Given the description of an element on the screen output the (x, y) to click on. 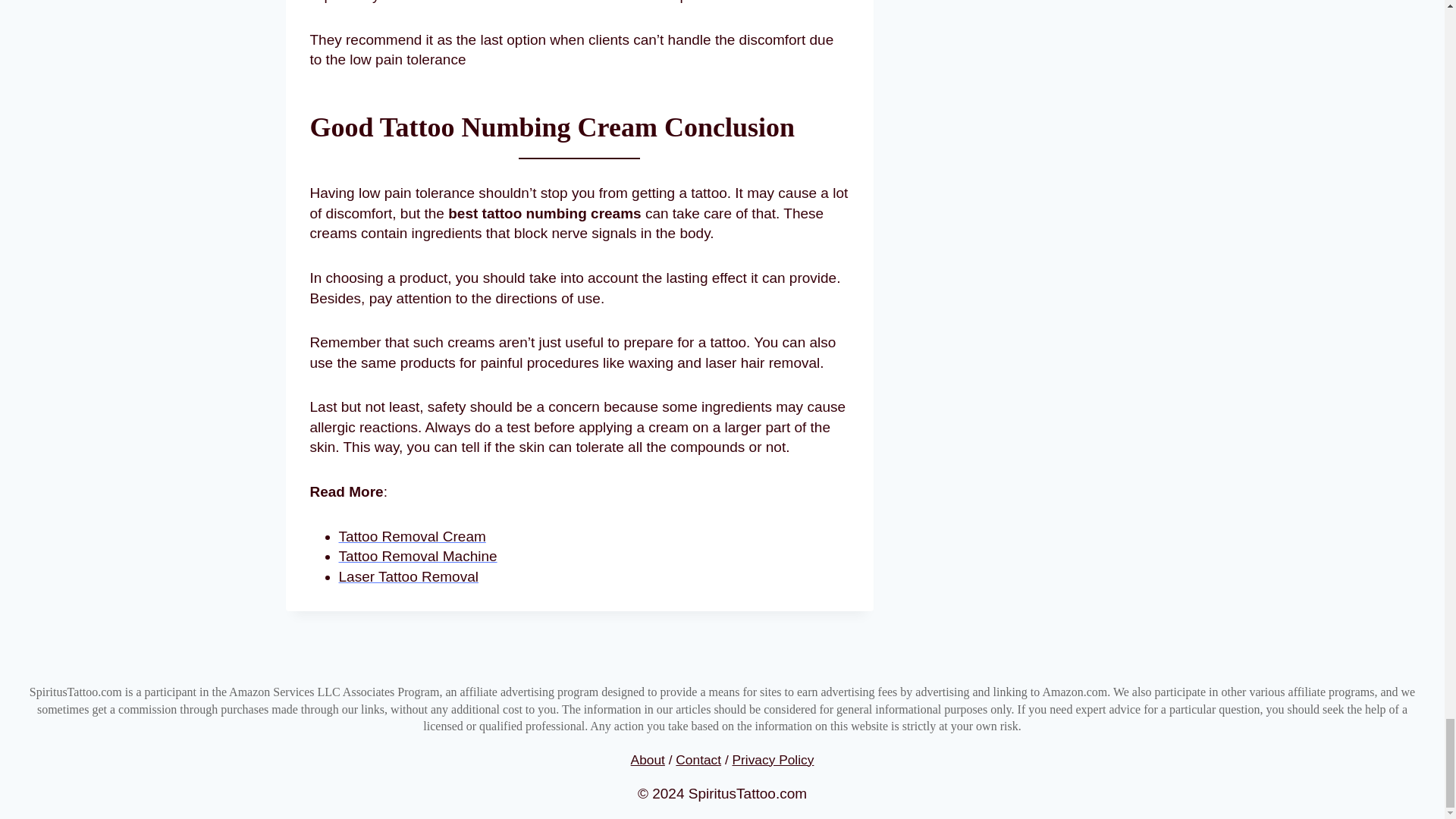
About (647, 759)
Laser Tattoo Removal (407, 576)
Tattoo Removal Machine (416, 555)
Contact (697, 759)
Privacy Policy (772, 759)
Tattoo Removal Cream (410, 536)
